Given the description of an element on the screen output the (x, y) to click on. 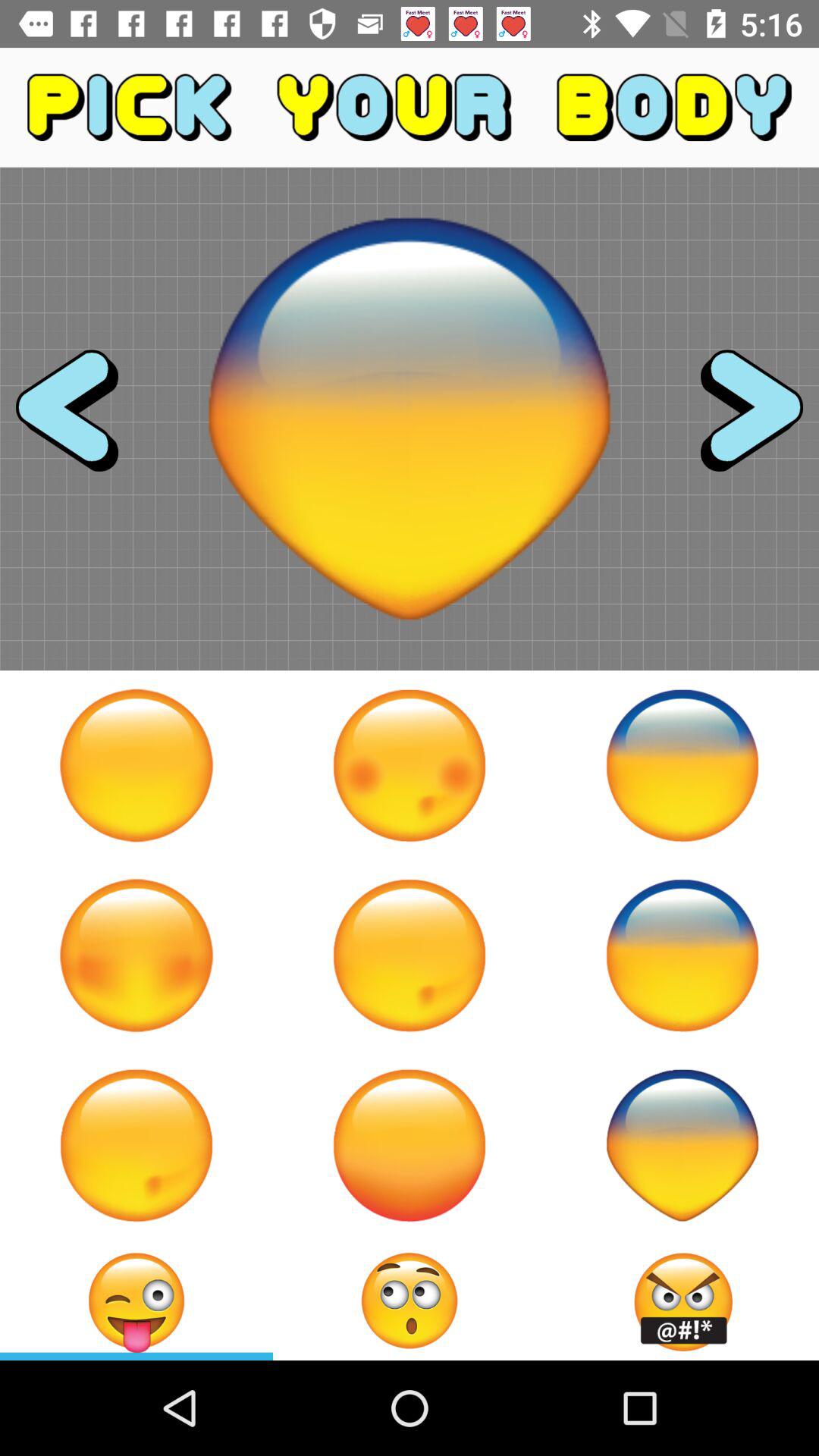
select body style (409, 1145)
